Given the description of an element on the screen output the (x, y) to click on. 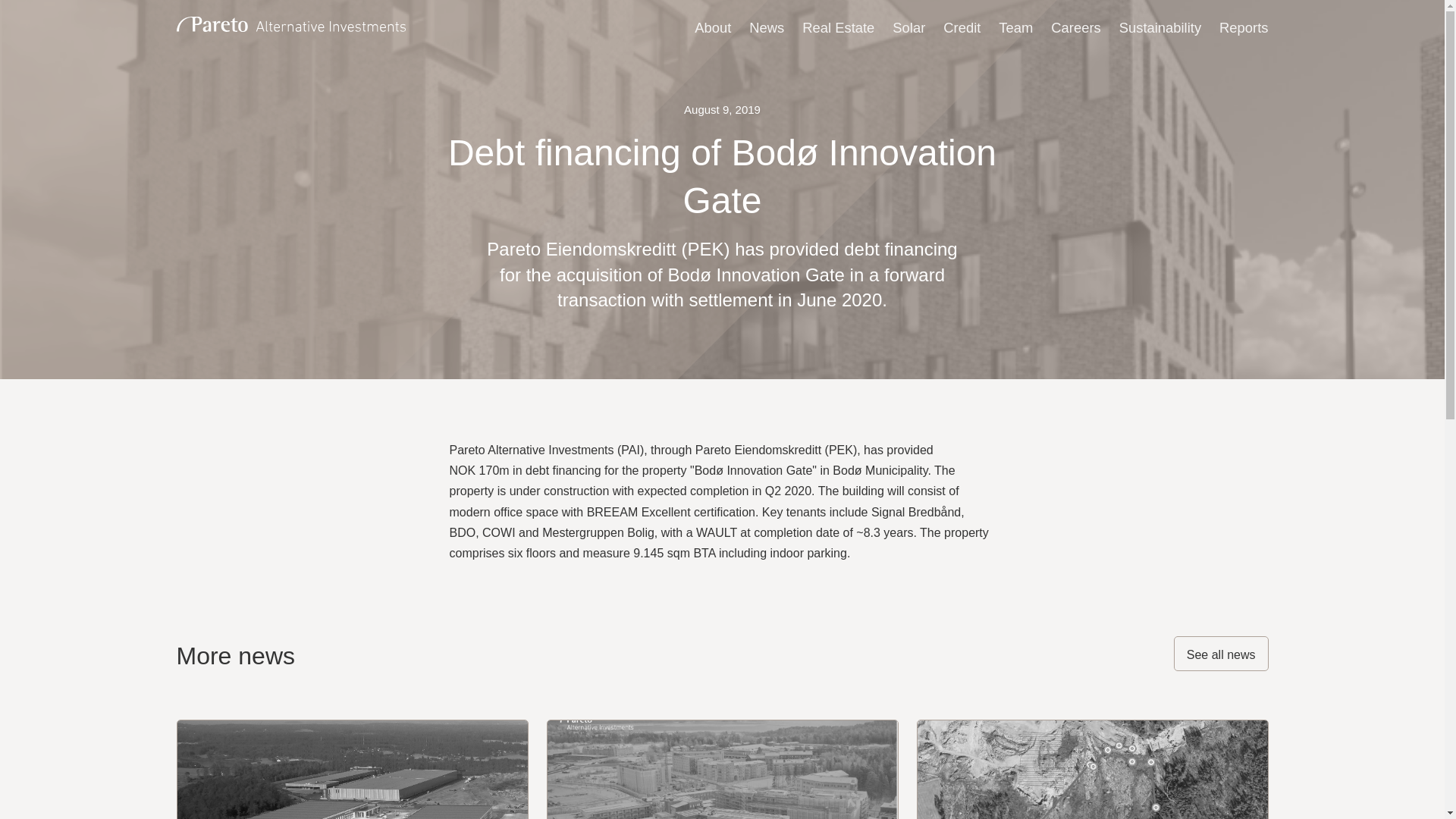
About (712, 25)
News (766, 25)
Sustainability (1160, 25)
Team (1015, 25)
Reports (1244, 25)
See all news (1220, 653)
Careers (1075, 25)
Solar (908, 25)
Credit (961, 25)
Real Estate (838, 25)
